Given the description of an element on the screen output the (x, y) to click on. 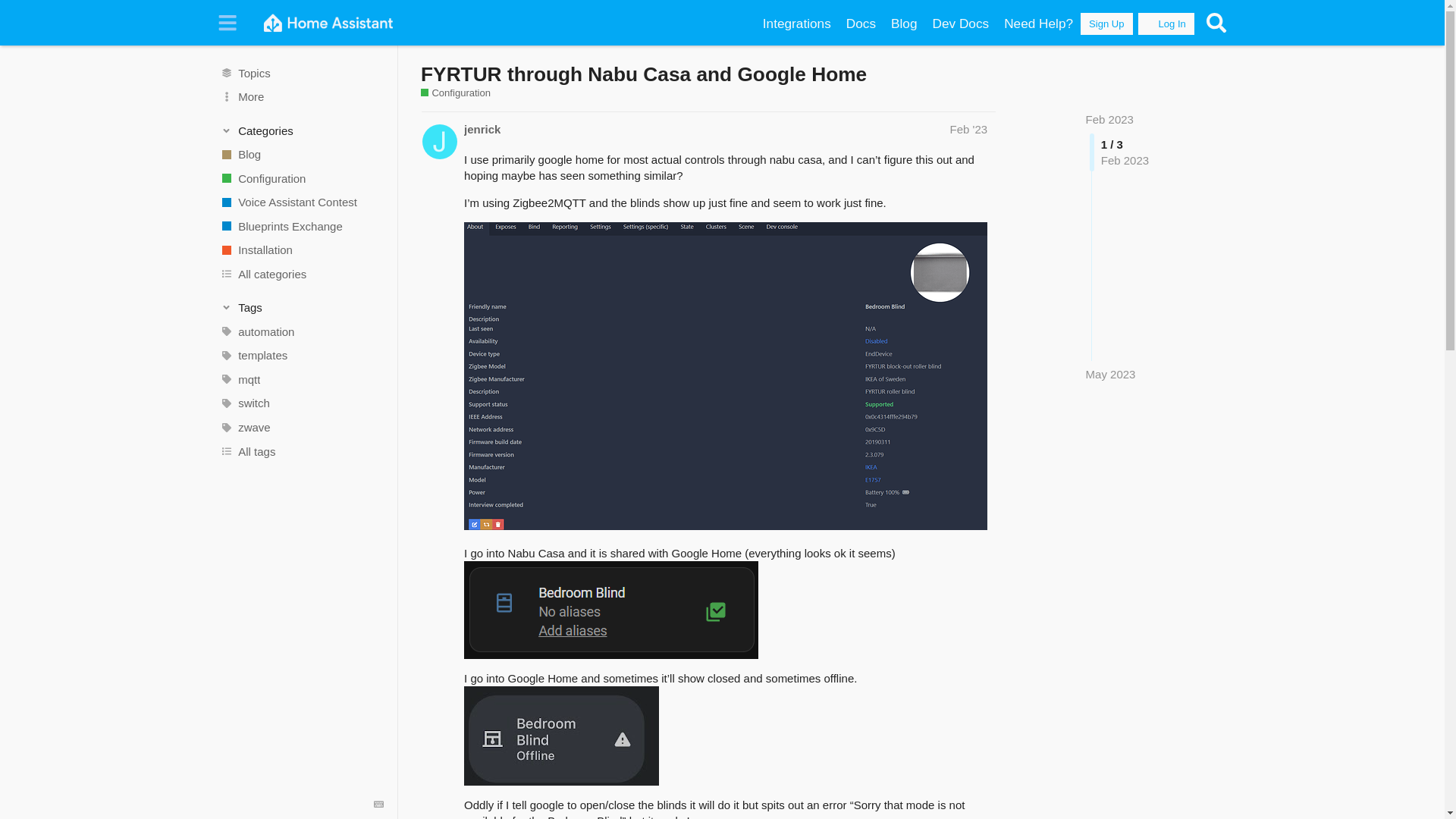
jenrick (482, 129)
Voice Assistant Contest (301, 202)
Blueprints Exchange (301, 225)
Feb '23 (968, 128)
All tags (301, 450)
All topics (301, 72)
Integrations (796, 23)
Categories (301, 130)
Topics (301, 72)
Sign Up (1106, 24)
Blog (903, 23)
zwave (301, 427)
Feb 2023 (1110, 119)
Integrations (796, 23)
